Given the description of an element on the screen output the (x, y) to click on. 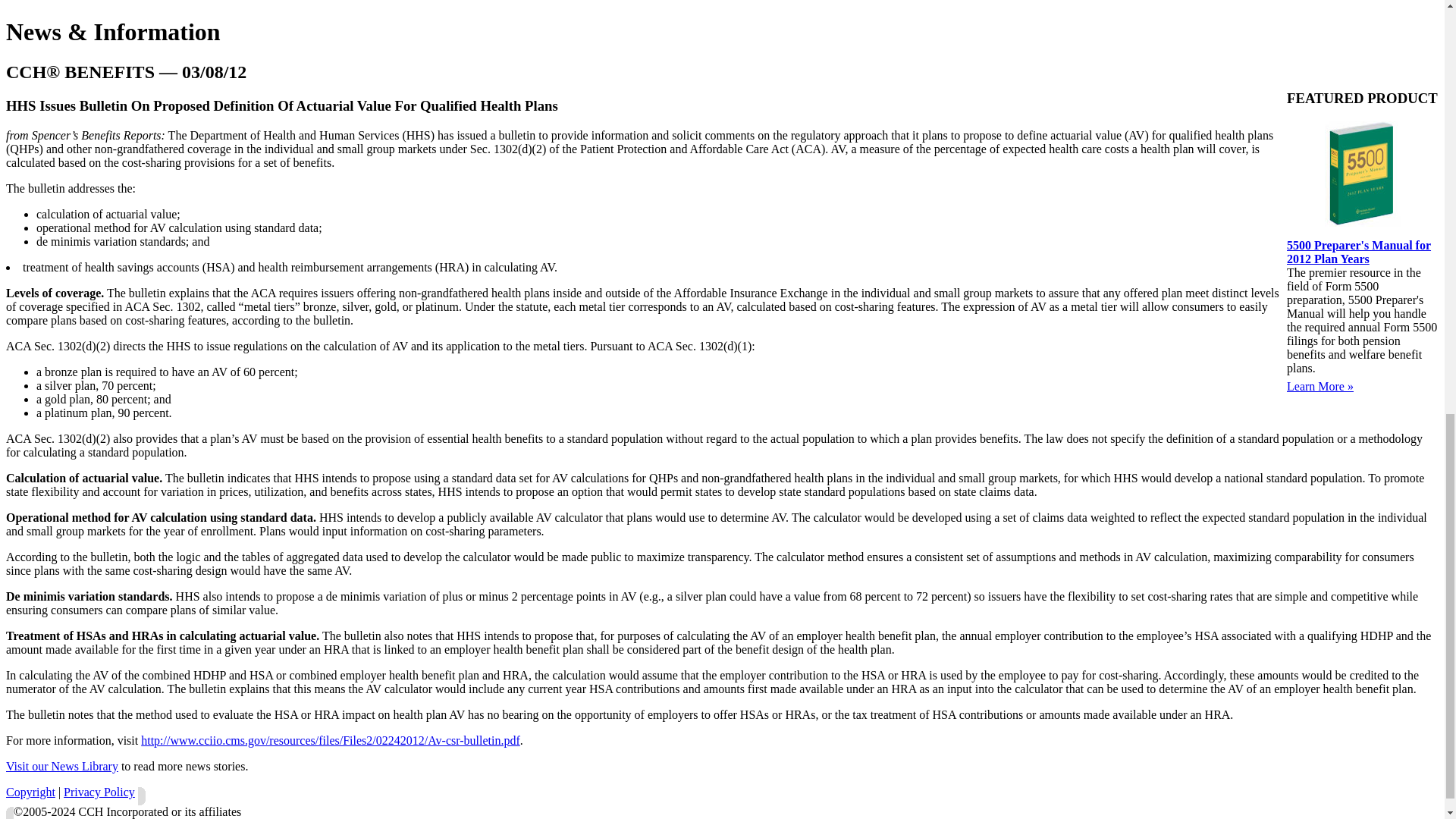
Privacy Policy (99, 791)
Copyright (30, 791)
5500 Preparer's Manual for 2012 Plan Years (1359, 251)
Visit our News Library (61, 766)
